Given the description of an element on the screen output the (x, y) to click on. 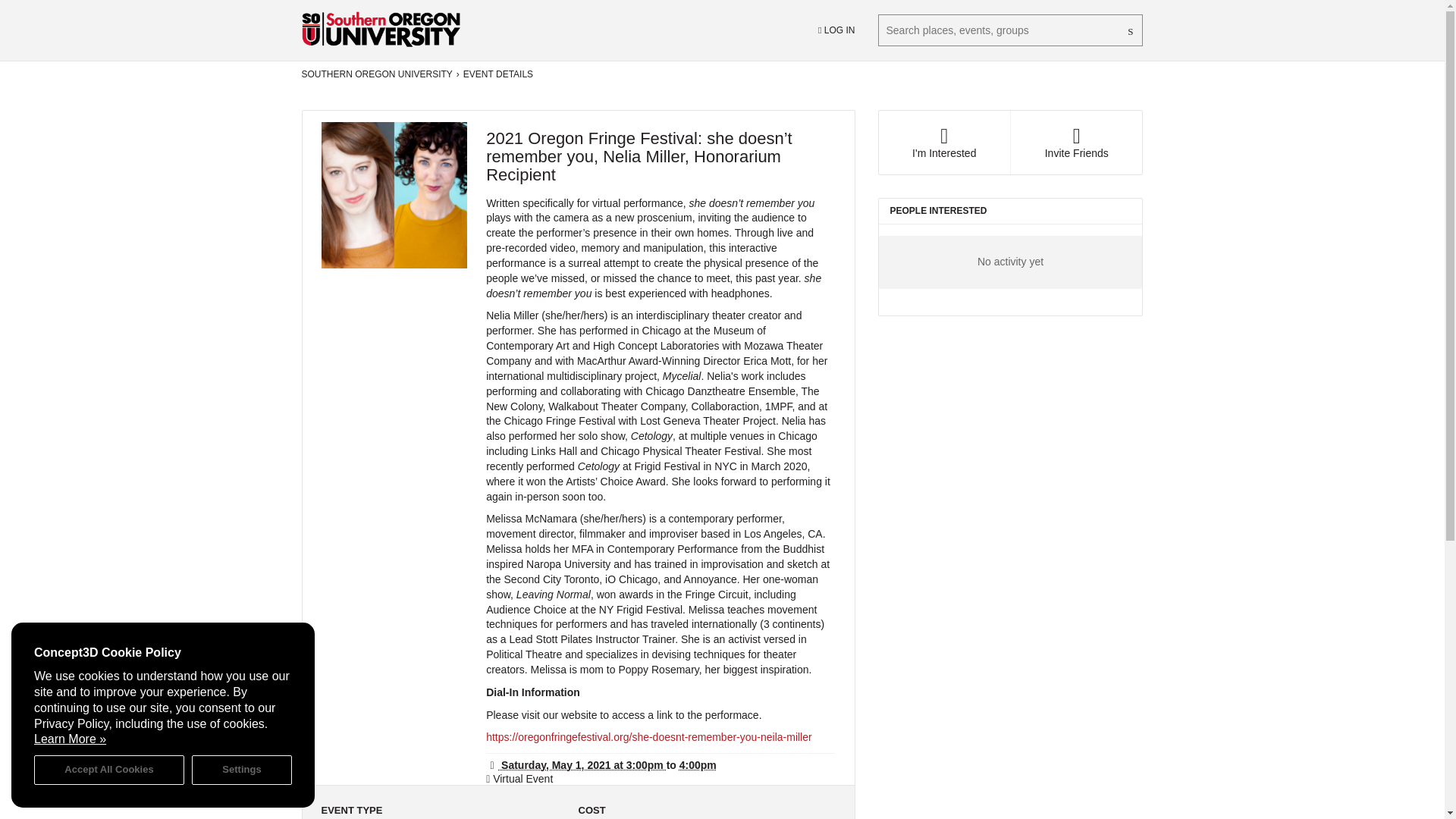
Search (1131, 30)
2021-05-01T15:00:00-07:00 (576, 765)
Settings (242, 769)
LOG IN (836, 30)
Invite Friends (1075, 142)
Accept All Cookies (108, 769)
2021-05-01T16:00:00-07:00 (697, 765)
SOUTHERN OREGON UNIVERSITY (376, 73)
I'm Interested (943, 142)
